Given the description of an element on the screen output the (x, y) to click on. 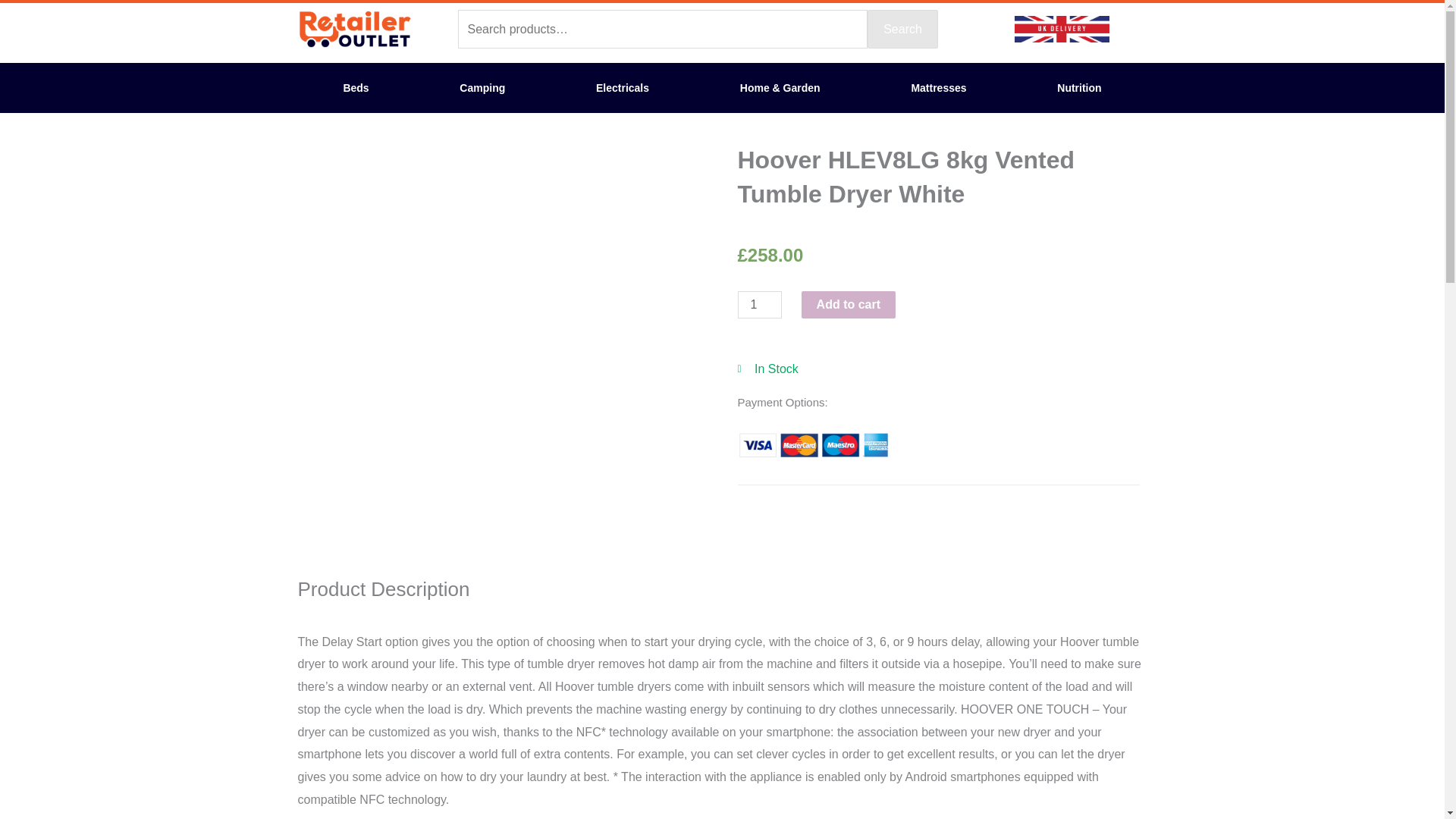
Search (902, 29)
Electricals (622, 87)
Beds (355, 87)
Mattresses (938, 87)
1 (758, 304)
Nutrition (1079, 87)
Camping (481, 87)
Add to cart (848, 304)
Add to cart (721, 814)
Accepted Payments (812, 445)
